Given the description of an element on the screen output the (x, y) to click on. 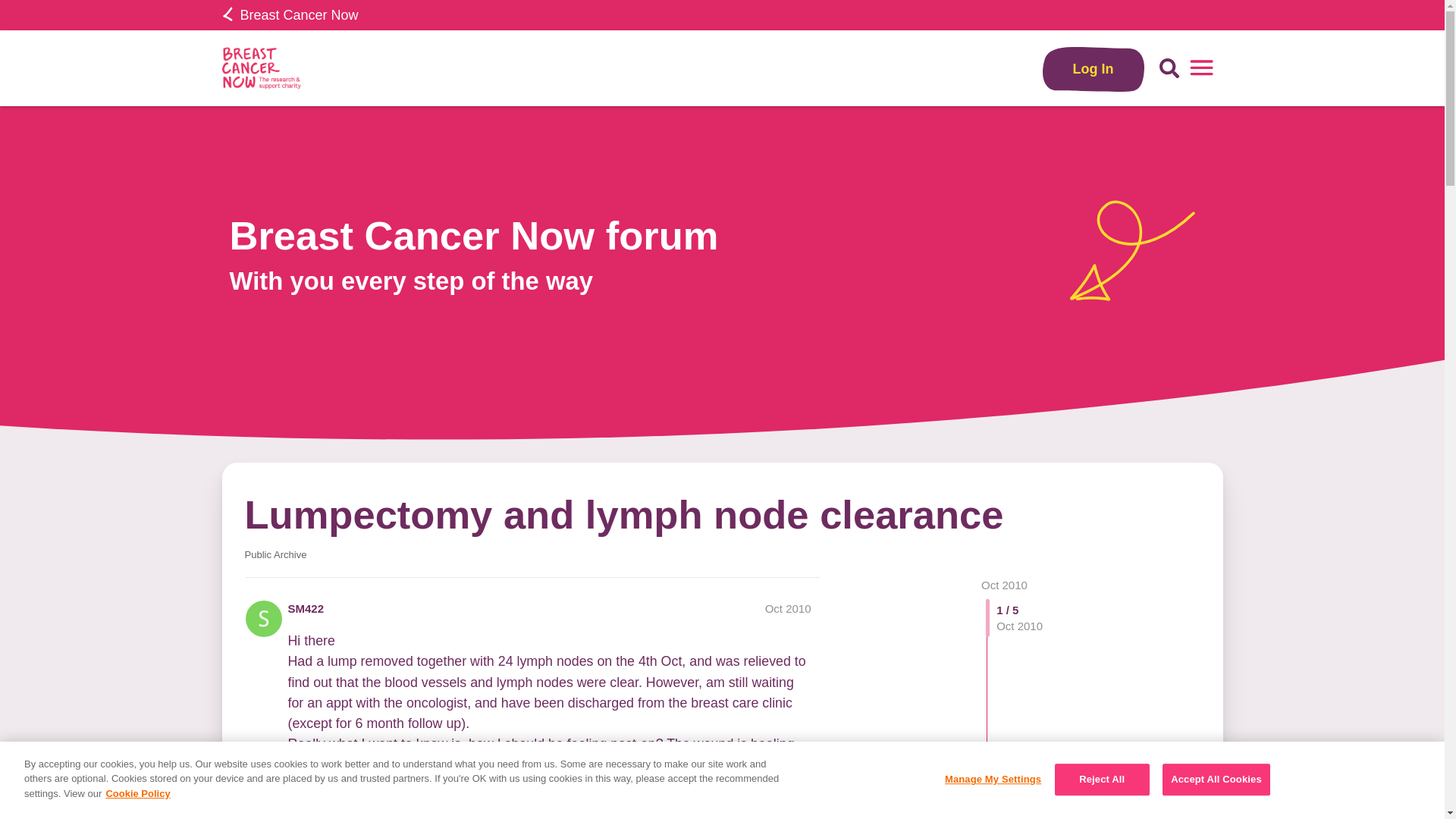
Oct 2010 (1004, 584)
Oct 2010 (787, 608)
Search (1169, 68)
Archived posts which are available to view. (274, 554)
Oct 2010 (1004, 584)
menu (1201, 67)
Breast Cancer Now (289, 15)
SM422 (306, 608)
Post date (787, 608)
Public Archive (274, 554)
